Given the description of an element on the screen output the (x, y) to click on. 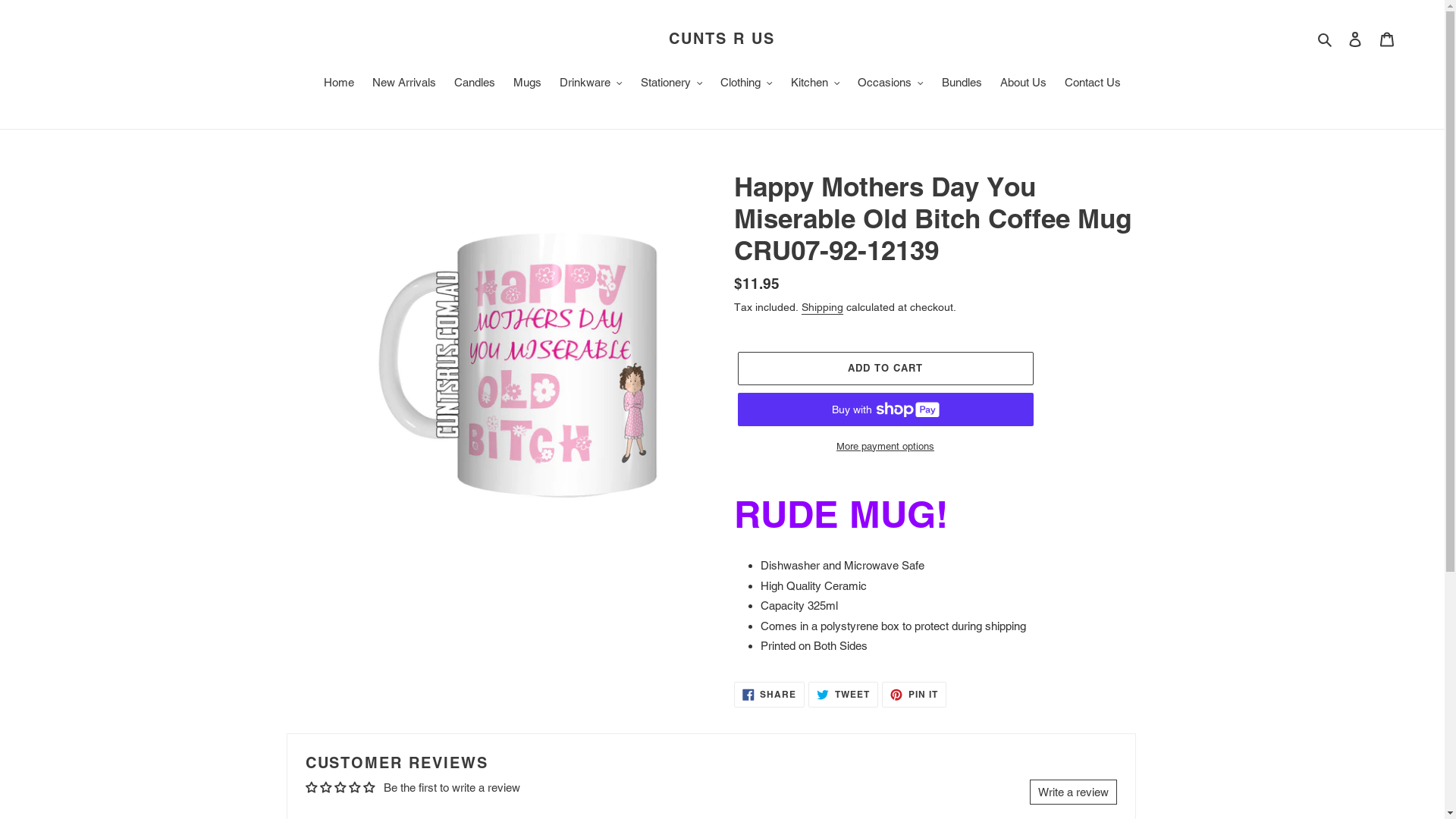
Occasions Element type: text (890, 84)
Cart Element type: text (1386, 38)
Search Element type: text (1325, 38)
SHARE
SHARE ON FACEBOOK Element type: text (769, 694)
Log in Element type: text (1355, 38)
Clothing Element type: text (746, 84)
Shipping Element type: text (821, 307)
Drinkware Element type: text (591, 84)
About Us Element type: text (1023, 84)
Contact Us Element type: text (1092, 84)
TWEET
TWEET ON TWITTER Element type: text (843, 694)
Home Element type: text (338, 84)
New Arrivals Element type: text (403, 84)
CUNTS R US Element type: text (721, 38)
Write a review Element type: text (1073, 791)
PIN IT
PIN ON PINTEREST Element type: text (913, 694)
ADD TO CART Element type: text (884, 368)
Stationery Element type: text (671, 84)
Mugs Element type: text (527, 84)
More payment options Element type: text (884, 446)
Bundles Element type: text (961, 84)
Candles Element type: text (474, 84)
Kitchen Element type: text (815, 84)
